Given the description of an element on the screen output the (x, y) to click on. 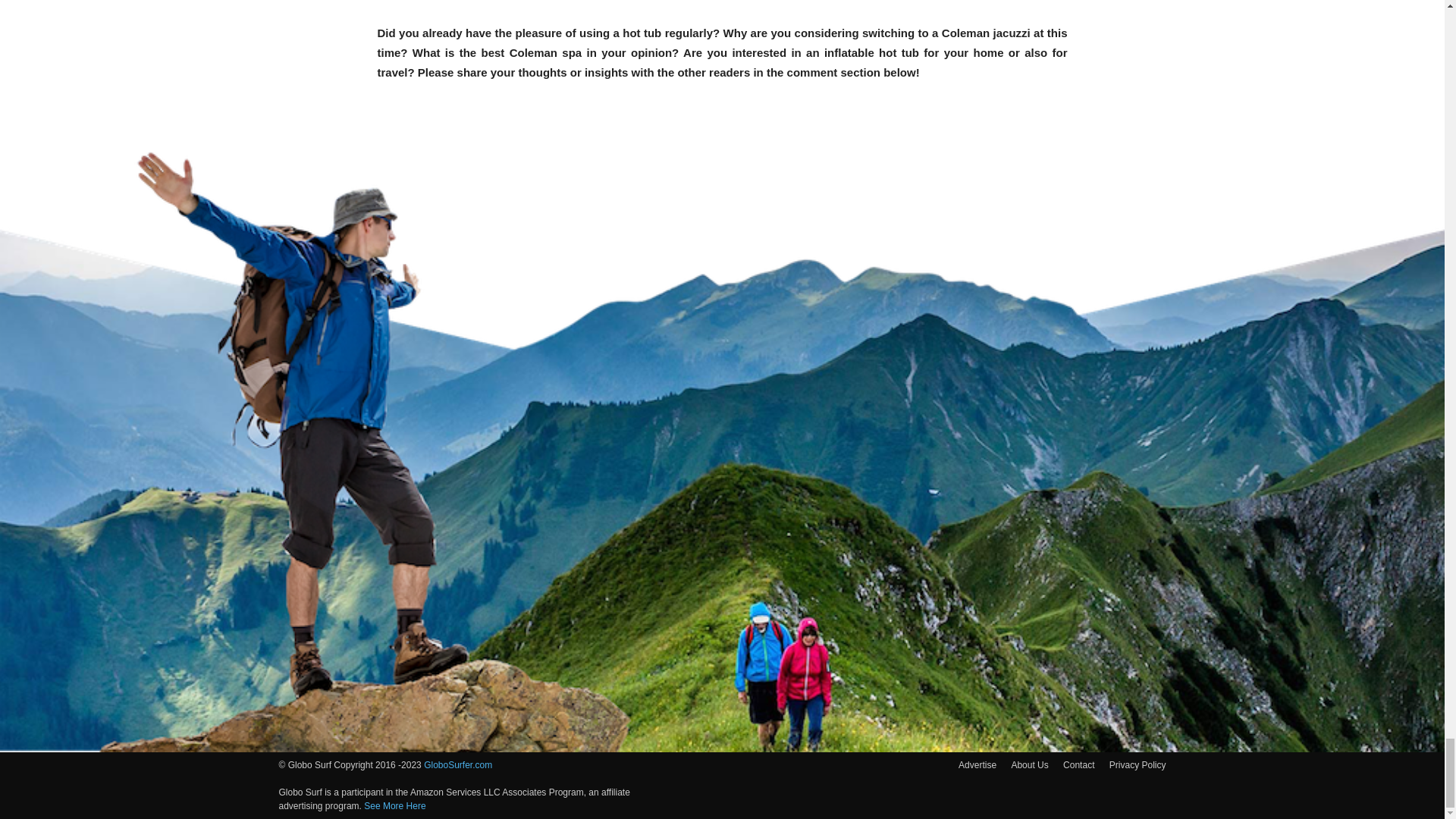
GloboSurfer.com (457, 765)
